Given the description of an element on the screen output the (x, y) to click on. 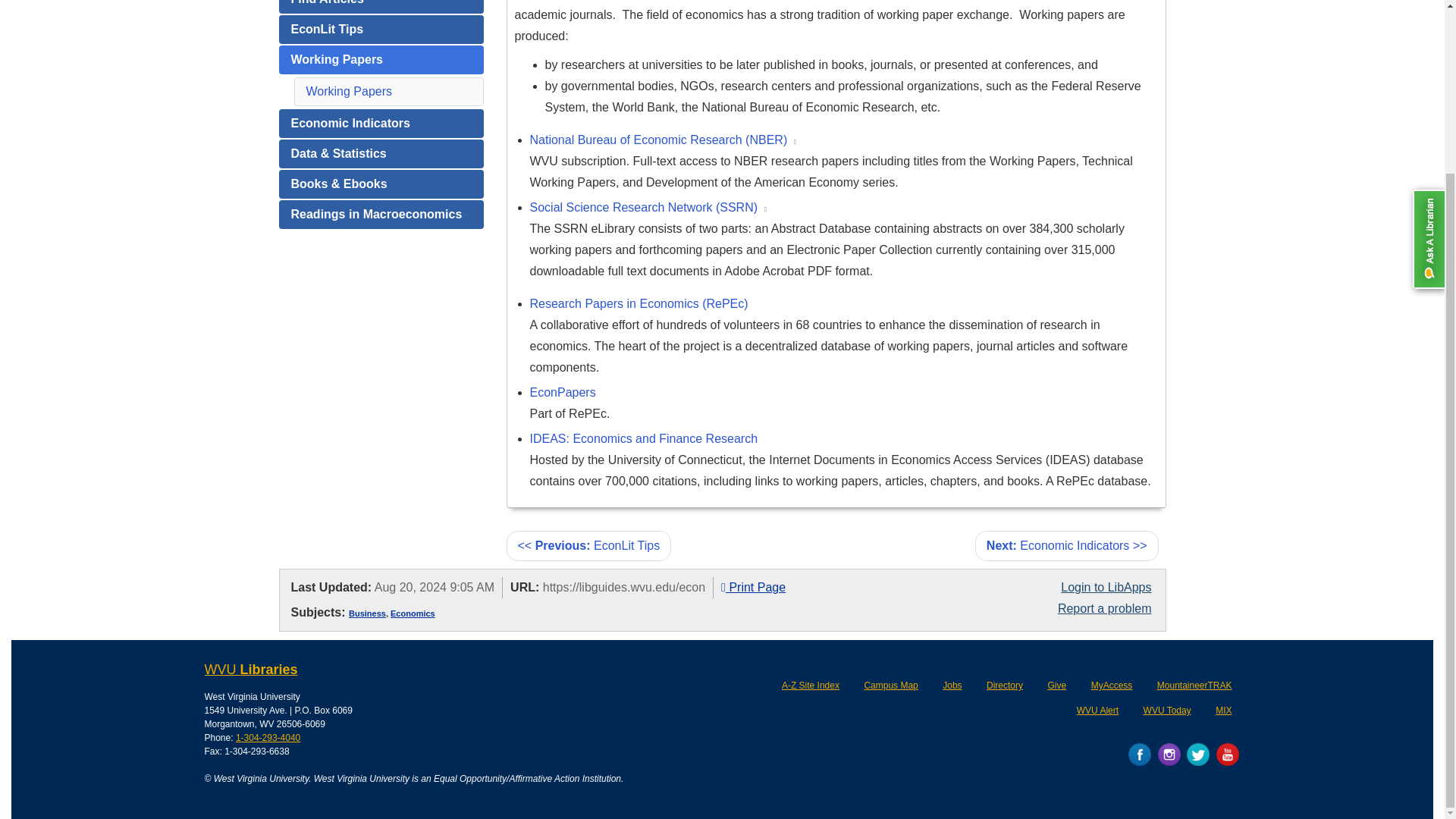
This link opens in a new window (794, 141)
This link opens in a new window (765, 209)
Facebook (1139, 753)
Youtube (1227, 753)
Find Articles (381, 6)
IDEAS: Economics and Finance Research (643, 438)
Working Papers (349, 91)
EconLit Tips (381, 29)
Readings in Macroeconomics (381, 214)
EconPapers (562, 391)
